Given the description of an element on the screen output the (x, y) to click on. 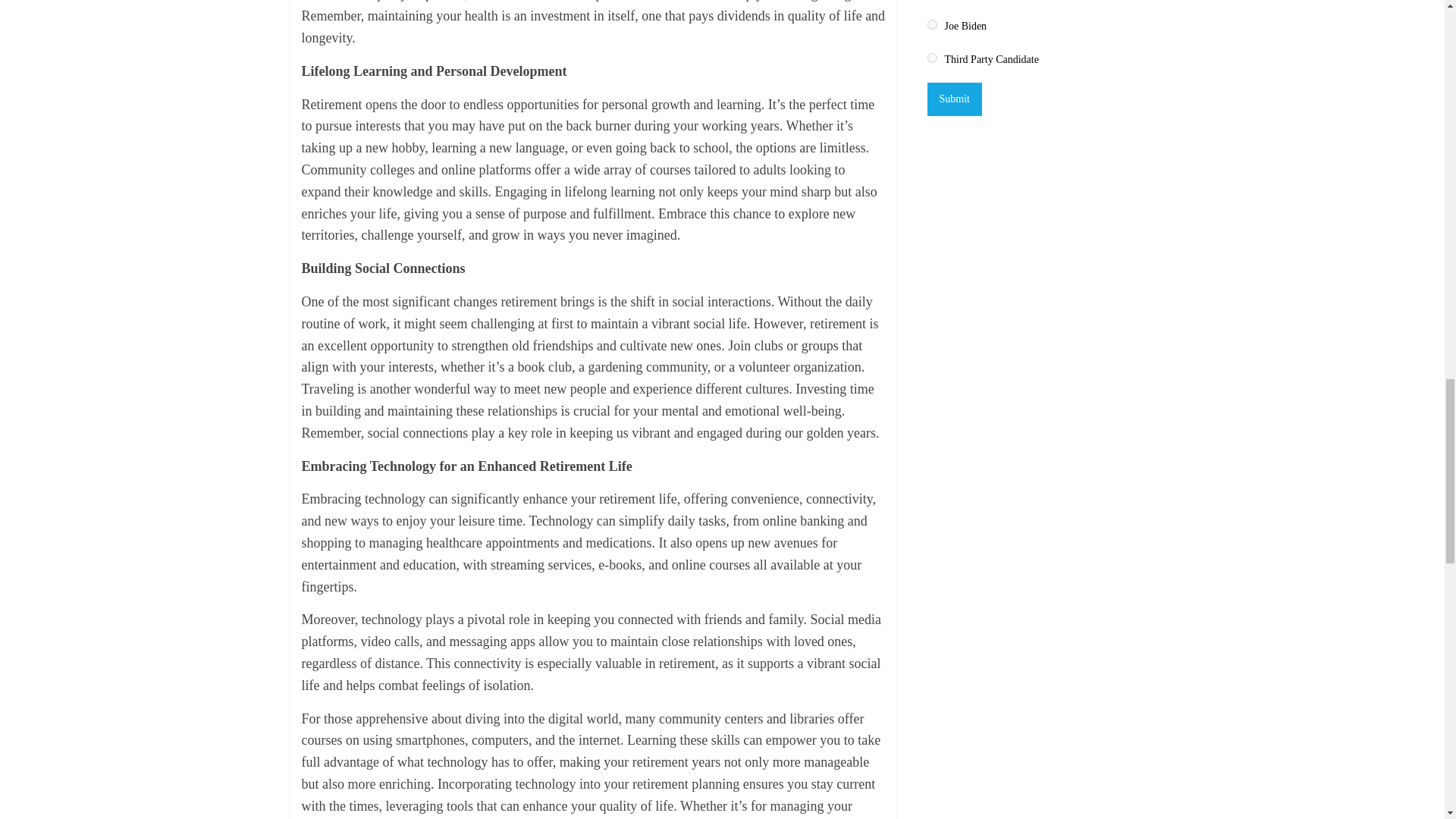
3 (931, 58)
2 (931, 24)
